Given the description of an element on the screen output the (x, y) to click on. 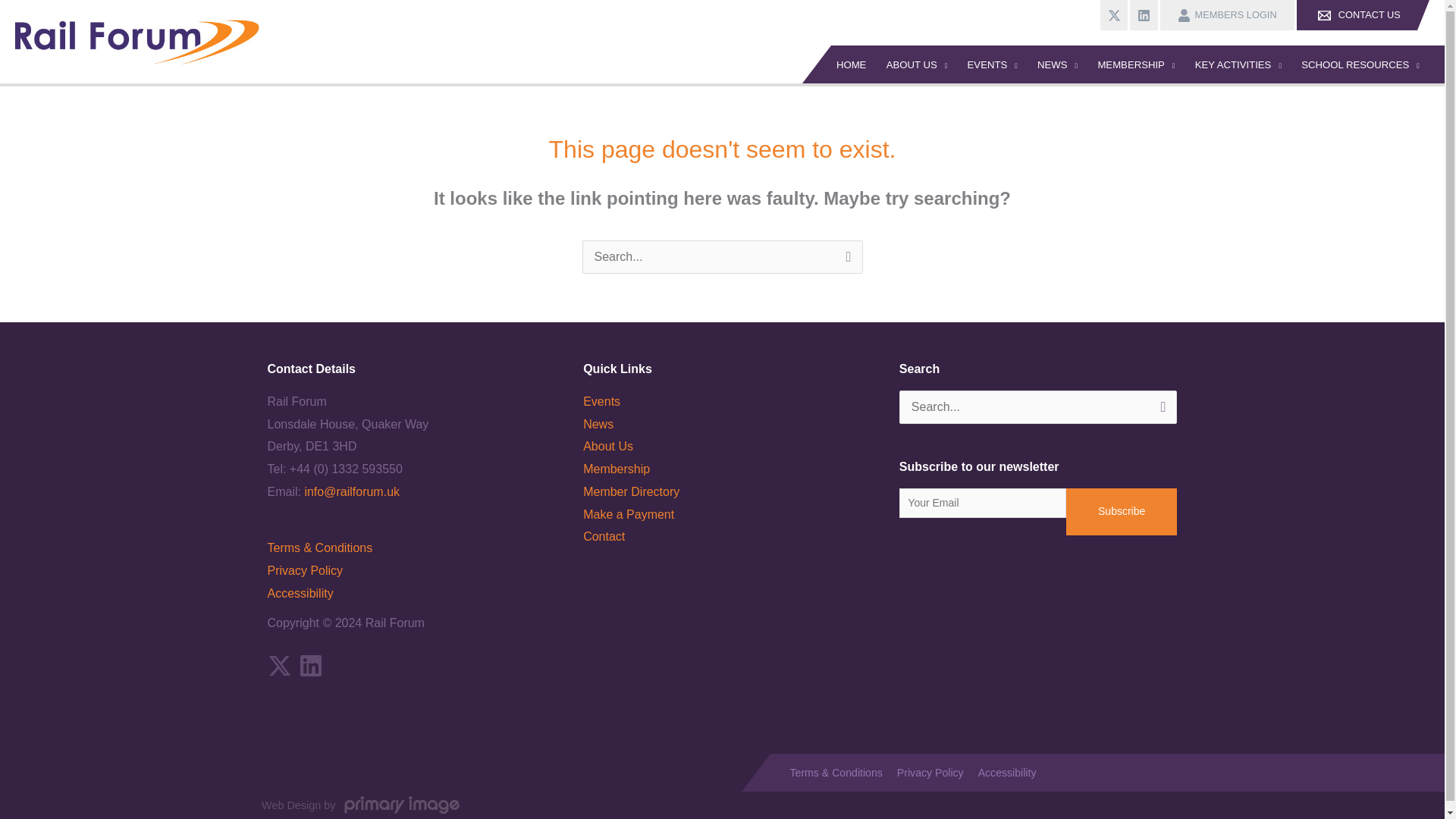
Subscribe (1121, 511)
CONTACT US (1361, 15)
SCHOOL RESOURCES (1360, 64)
HOME (839, 64)
MEMBERS LOGIN (1225, 15)
NEWS (1057, 64)
MEMBERSHIP (1136, 64)
KEY ACTIVITIES (1238, 64)
ABOUT US (917, 64)
EVENTS (991, 64)
Primary Image Website Designers (401, 806)
